Given the description of an element on the screen output the (x, y) to click on. 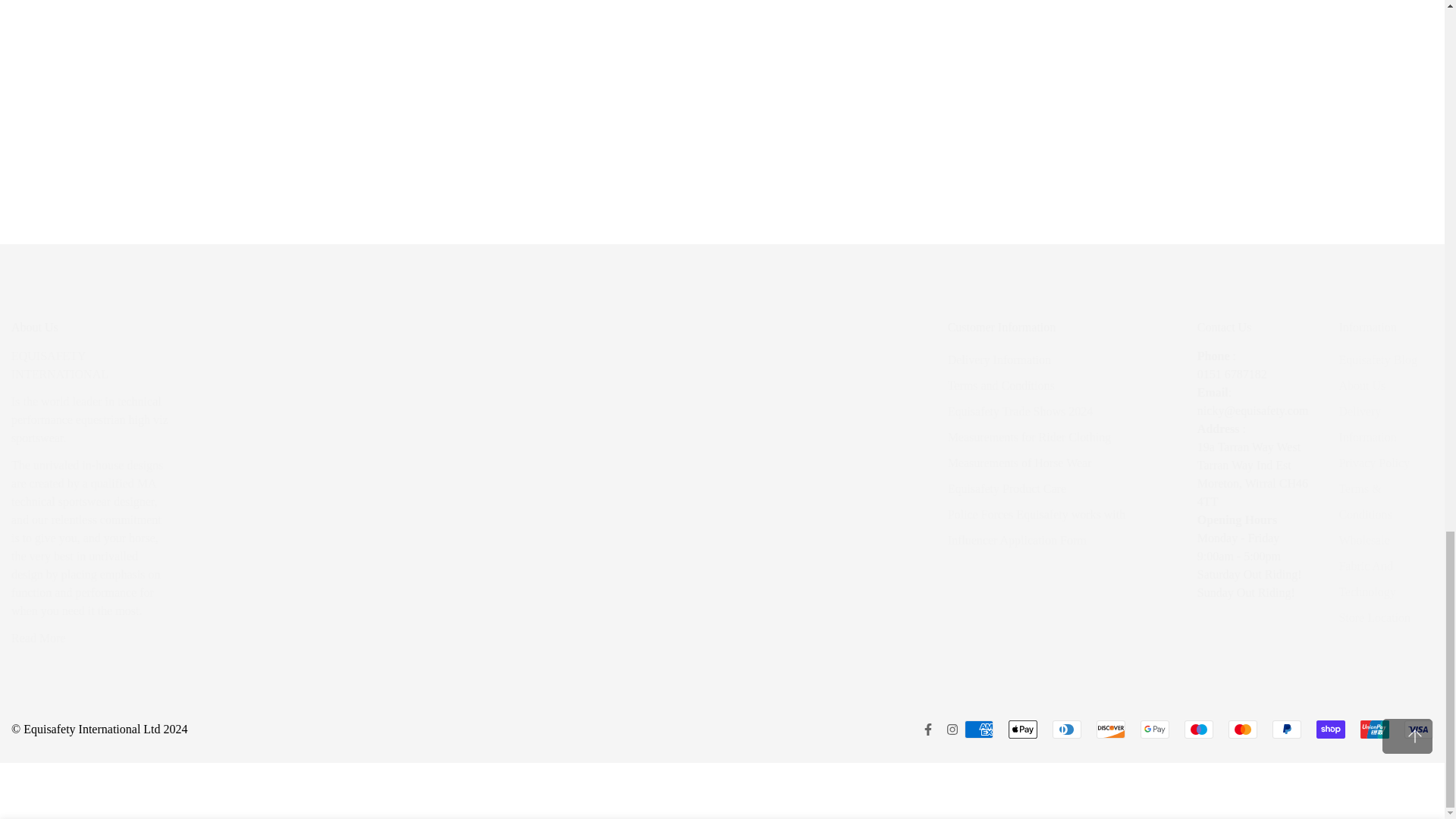
ABOUT EQUISAFETY LTD (38, 637)
